Given the description of an element on the screen output the (x, y) to click on. 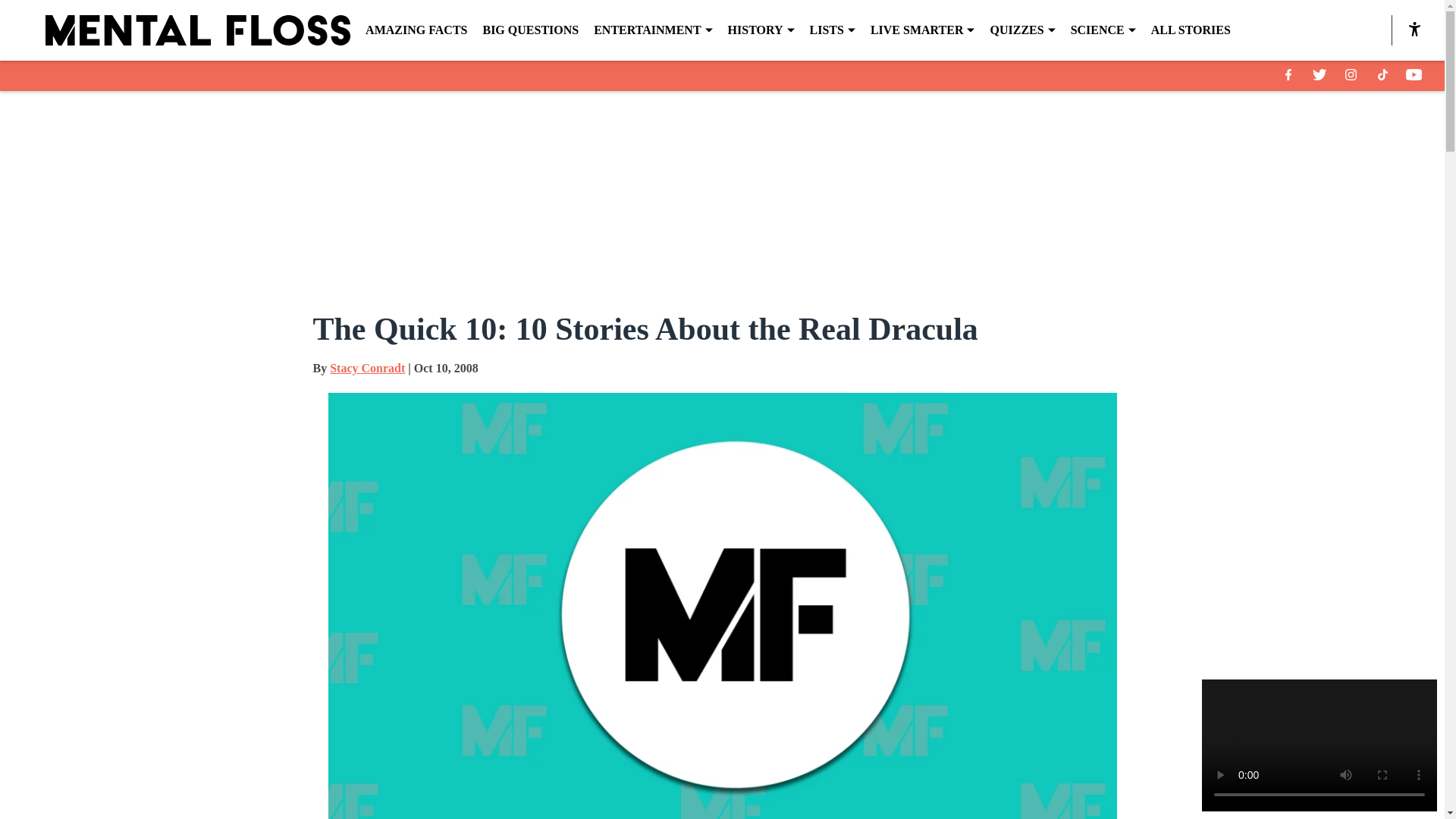
BIG QUESTIONS (529, 30)
AMAZING FACTS (416, 30)
ALL STORIES (1190, 30)
